Given the description of an element on the screen output the (x, y) to click on. 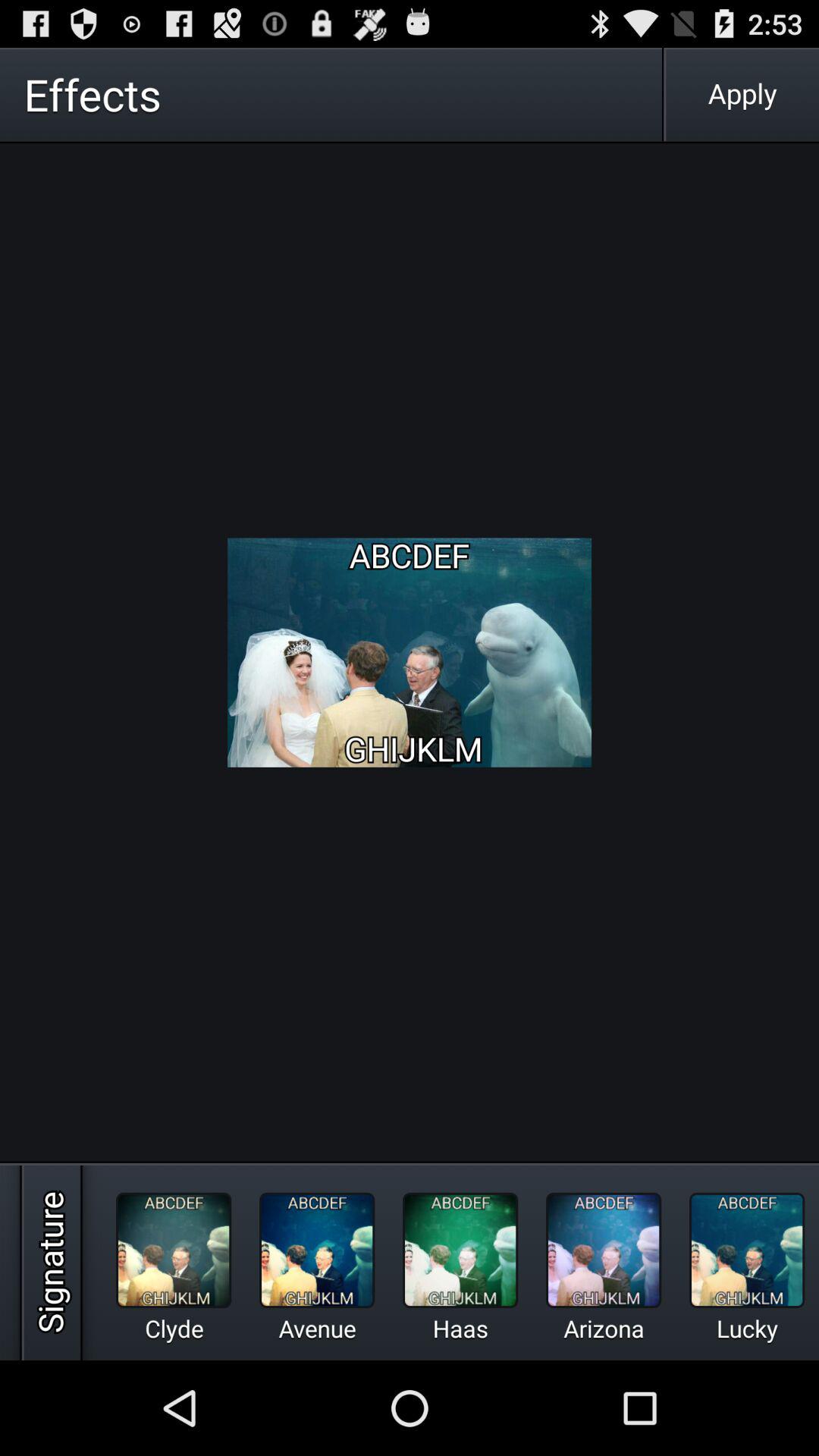
flip until the apply icon (742, 93)
